Given the description of an element on the screen output the (x, y) to click on. 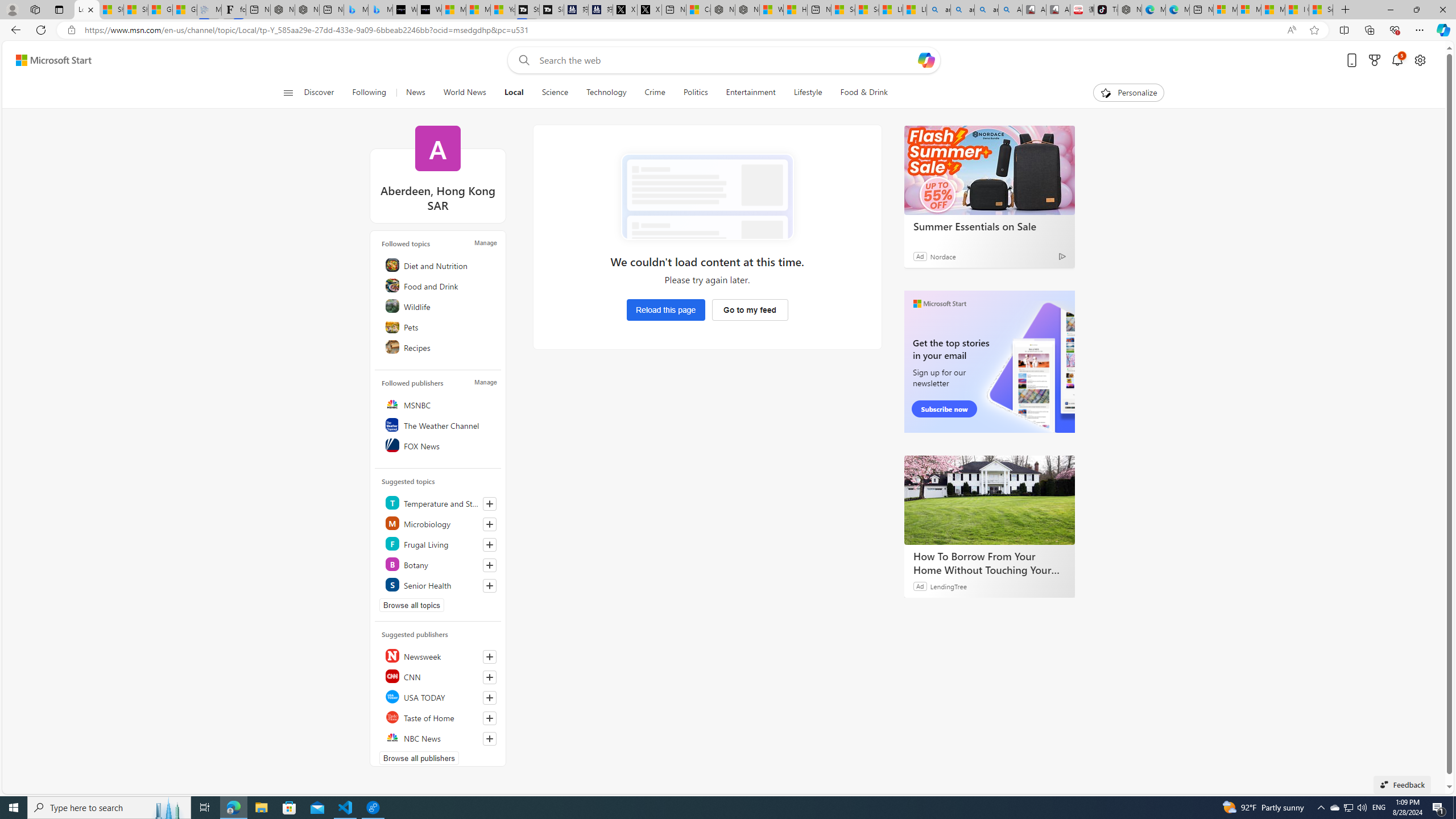
Local - MSN (86, 9)
Wildlife (439, 305)
Food and Drink (439, 285)
Gilma and Hector both pose tropical trouble for Hawaii (184, 9)
Microsoft Bing Travel - Shangri-La Hotel Bangkok (380, 9)
Follow this topic (489, 585)
Reload this page (665, 309)
Crime (654, 92)
Class: highlight (439, 584)
How To Borrow From Your Home Without Touching Your Mortgage (989, 499)
Technology (605, 92)
FOX News (439, 445)
Entertainment (750, 92)
